Given the description of an element on the screen output the (x, y) to click on. 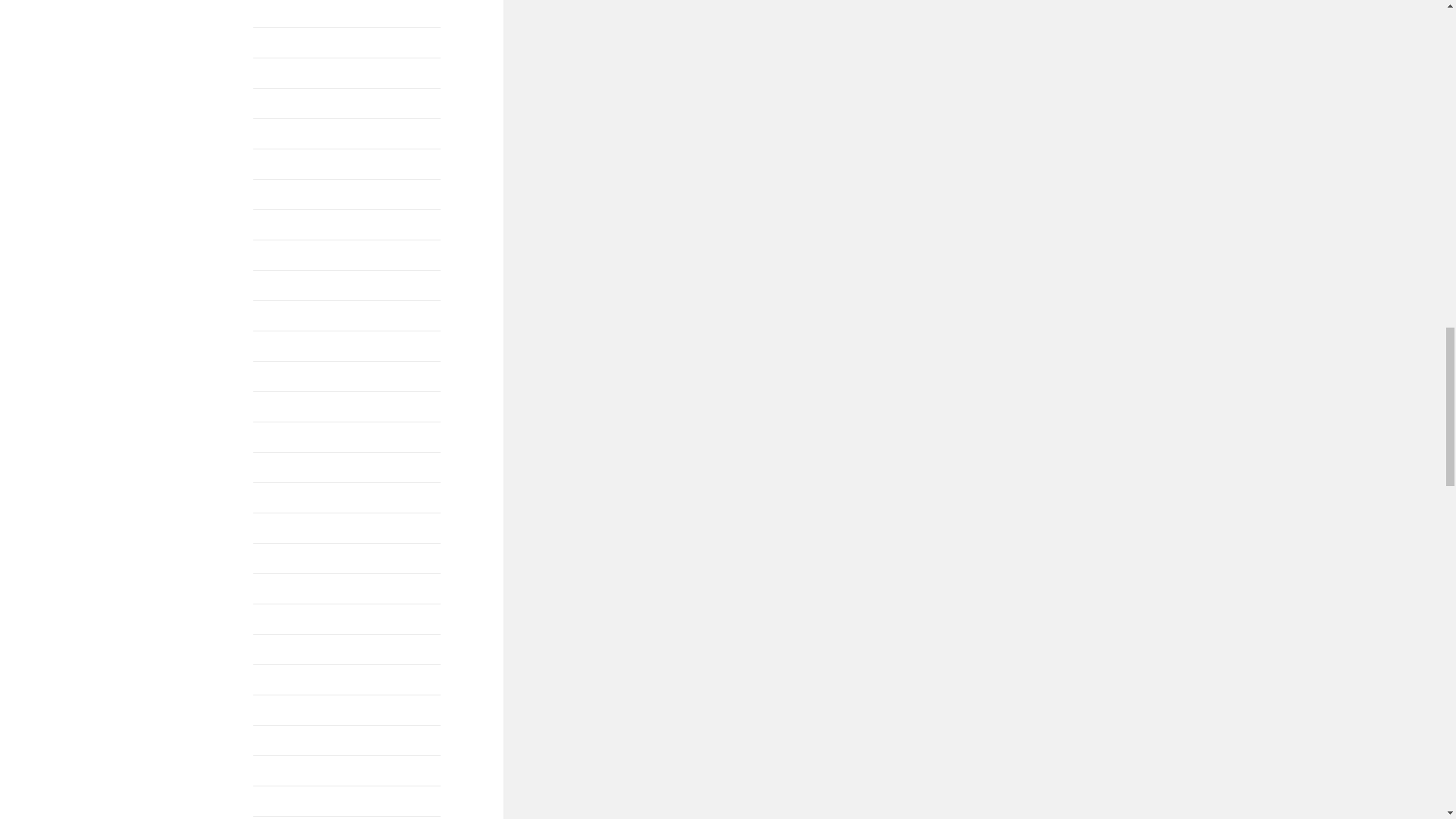
August 2022 (284, 72)
March 2023 (283, 11)
May 2022 (277, 103)
February 2023 (288, 42)
